Given the description of an element on the screen output the (x, y) to click on. 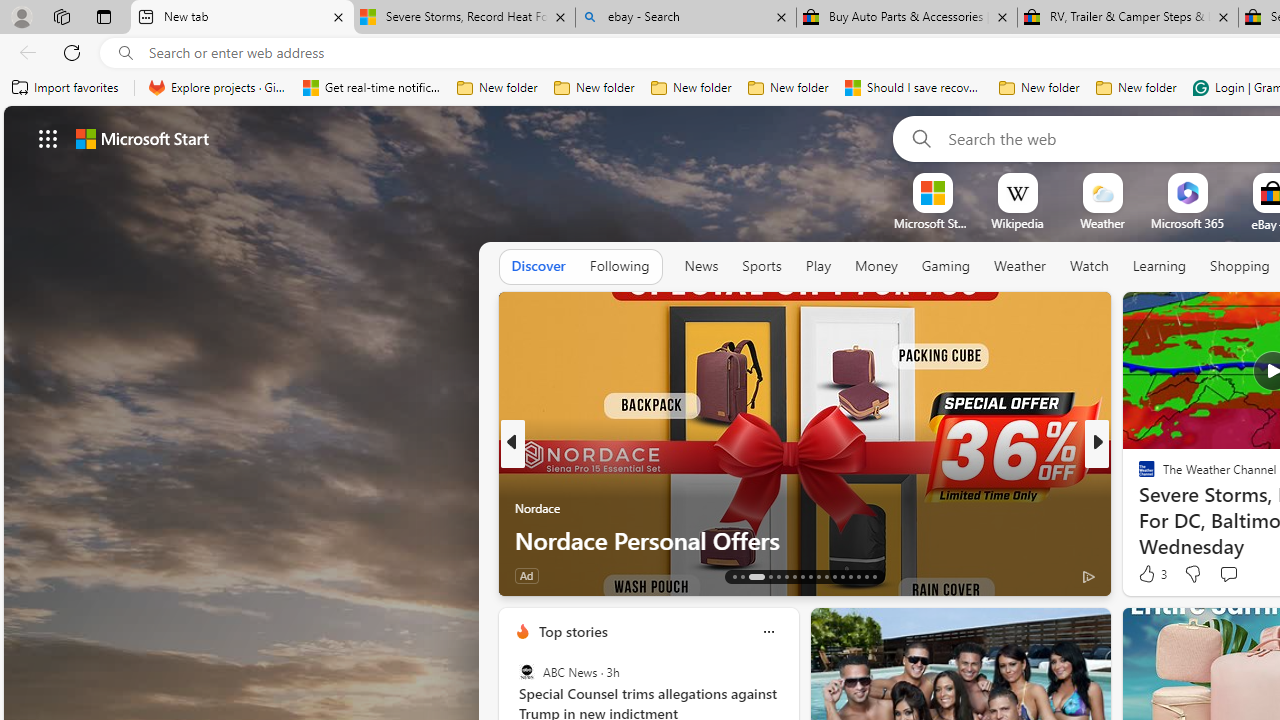
View comments 96 Comment (1244, 574)
AutomationID: tab-27 (857, 576)
New folder (1136, 88)
7 Like (1145, 574)
Like (1140, 574)
View comments 1 Comment (1234, 575)
3 Like (1151, 574)
NBC News (1138, 475)
